Given the description of an element on the screen output the (x, y) to click on. 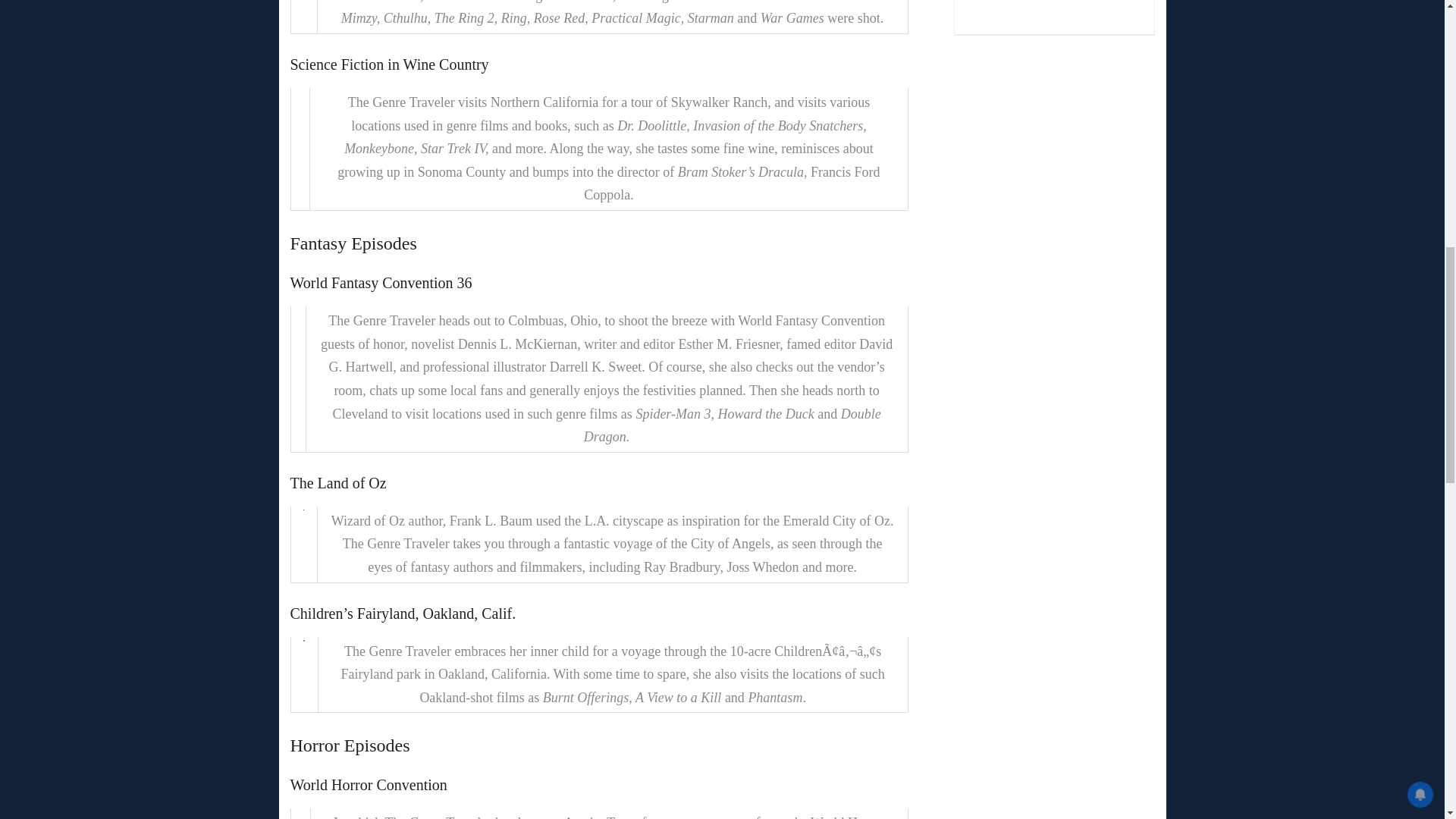
Advertisement (1014, 5)
